Given the description of an element on the screen output the (x, y) to click on. 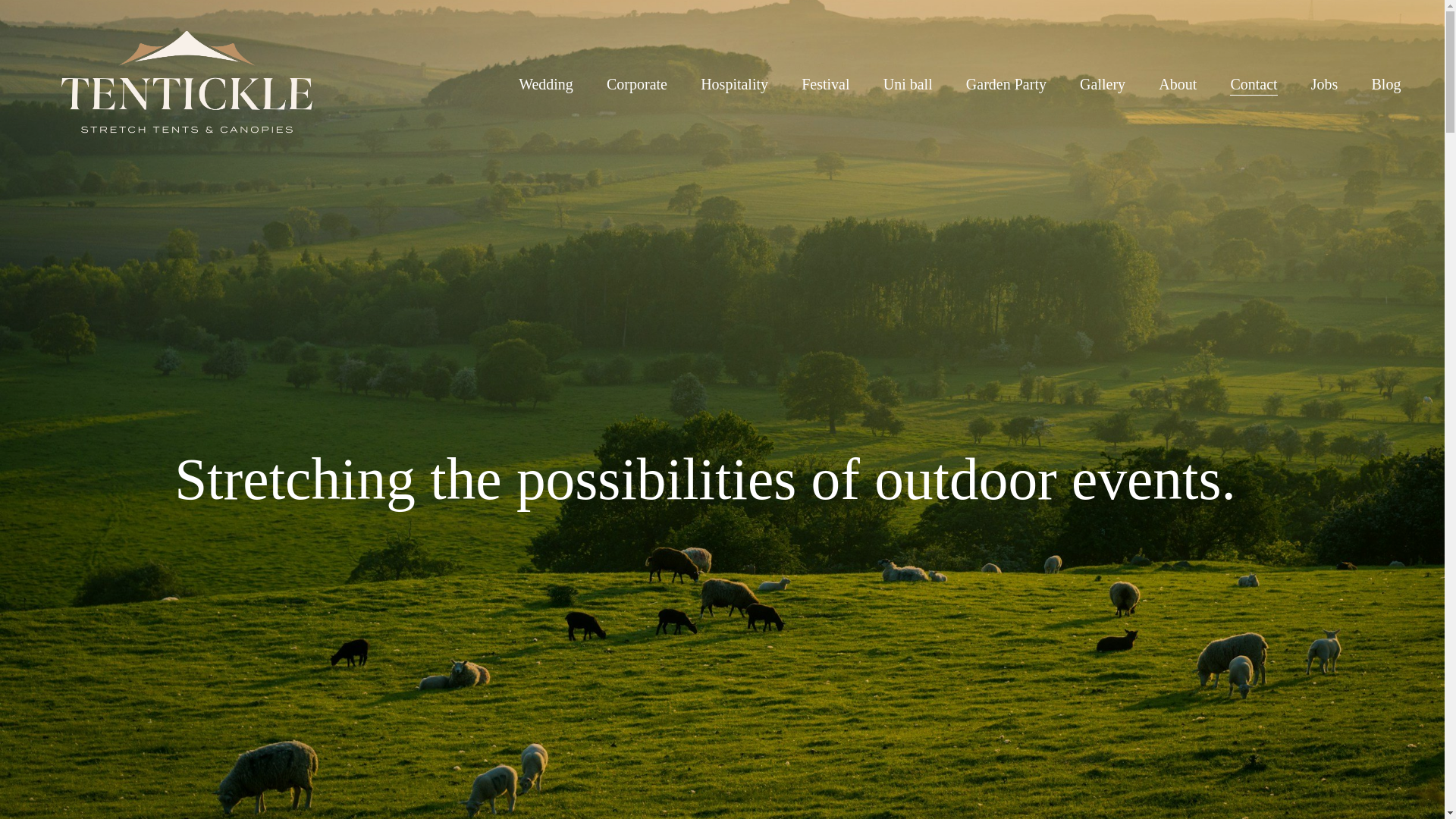
Corporate (636, 84)
Blog (1385, 84)
Gallery (1102, 84)
Jobs (1324, 84)
Wedding (545, 84)
About (1177, 84)
Contact (1253, 84)
Festival (825, 84)
Uni ball (908, 84)
Garden Party (1006, 84)
Hospitality (734, 84)
